Given the description of an element on the screen output the (x, y) to click on. 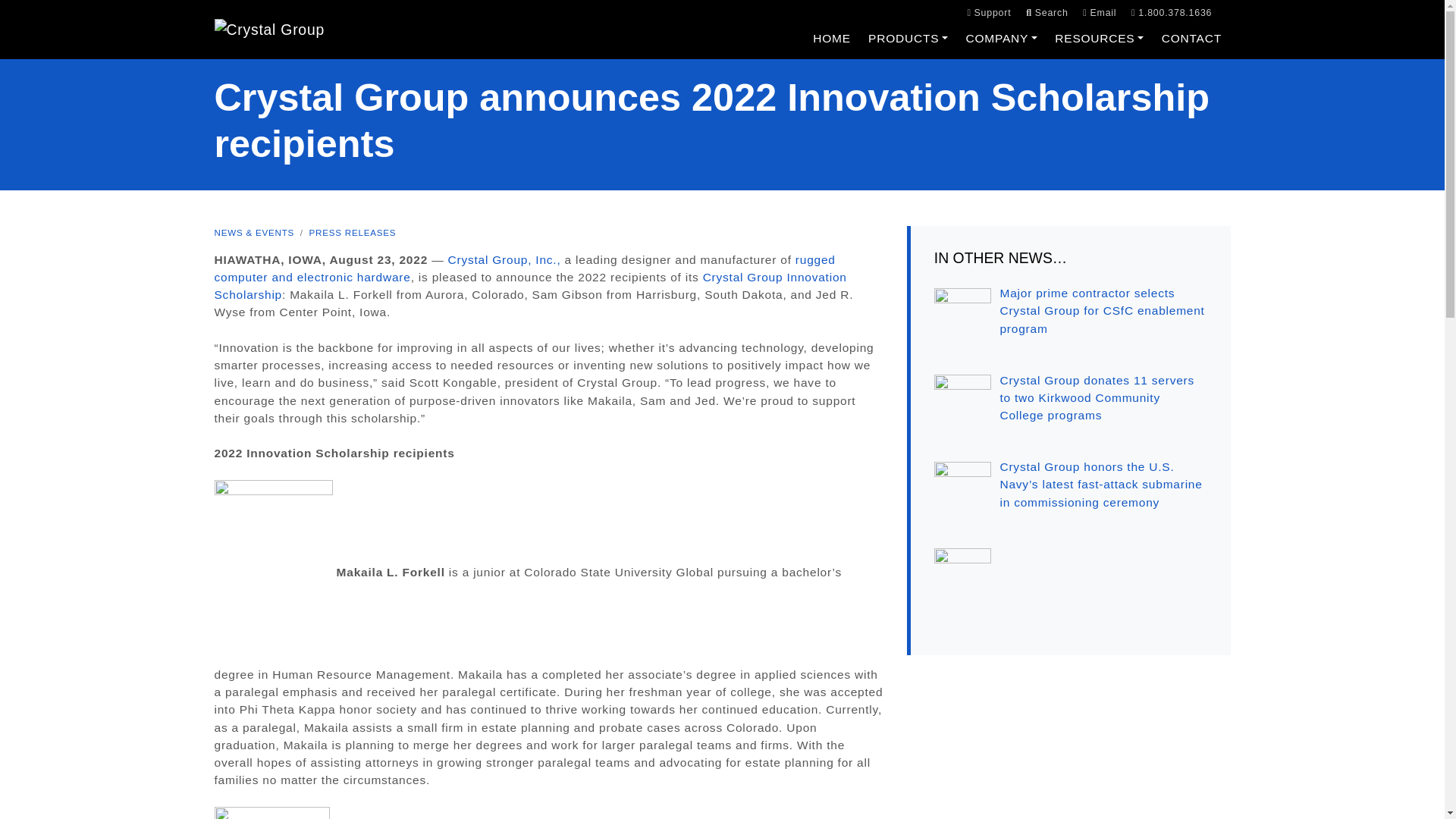
Email (1099, 12)
PRODUCTS (907, 38)
Support (988, 12)
Search (1046, 12)
RESOURCES (1099, 38)
1.800.378.1636 (1171, 12)
COMPANY (1001, 38)
HOME (832, 38)
